Given the description of an element on the screen output the (x, y) to click on. 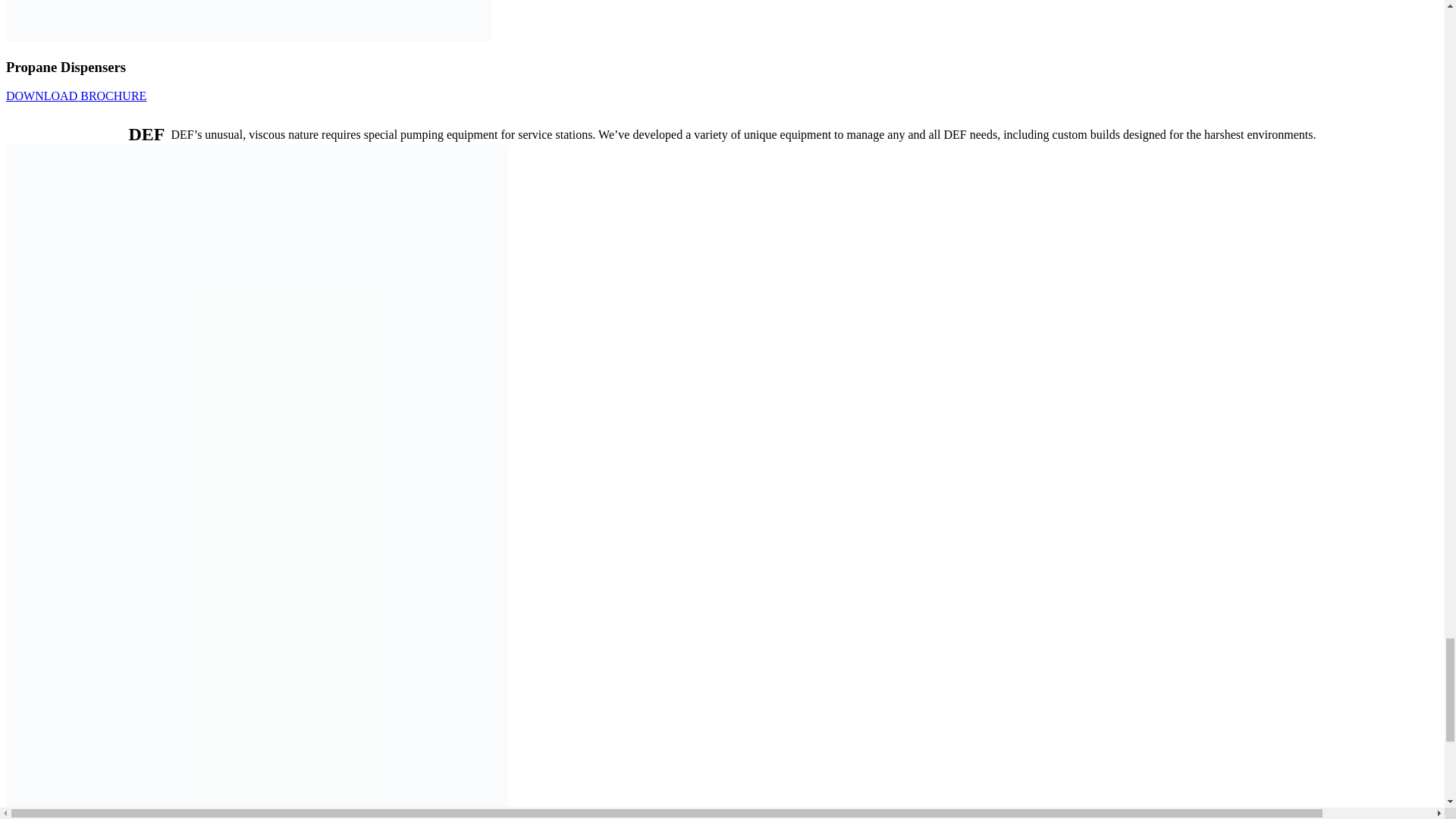
DOWNLOAD BROCHURE (76, 95)
